Given the description of an element on the screen output the (x, y) to click on. 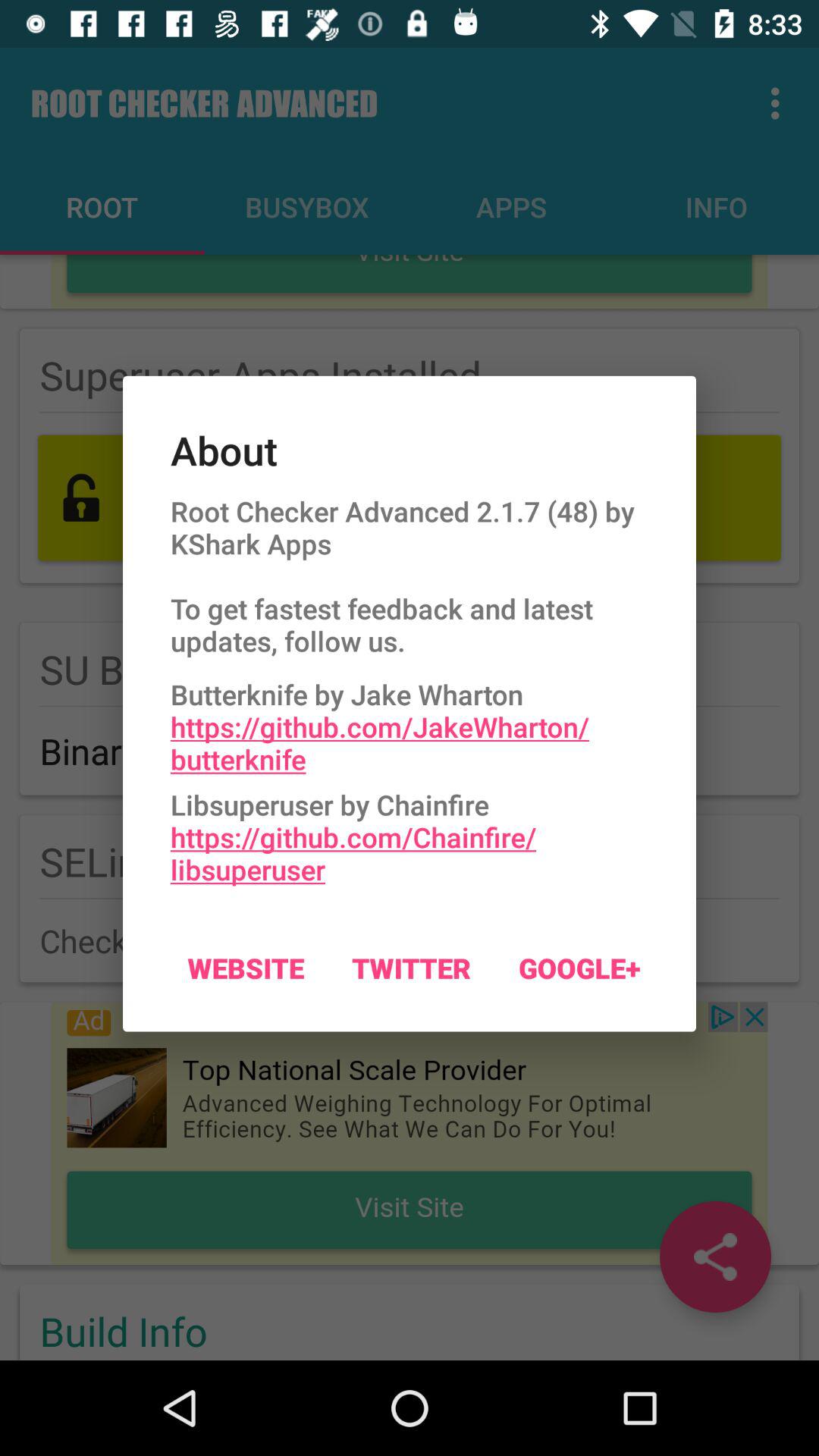
turn on icon next to website icon (411, 967)
